Given the description of an element on the screen output the (x, y) to click on. 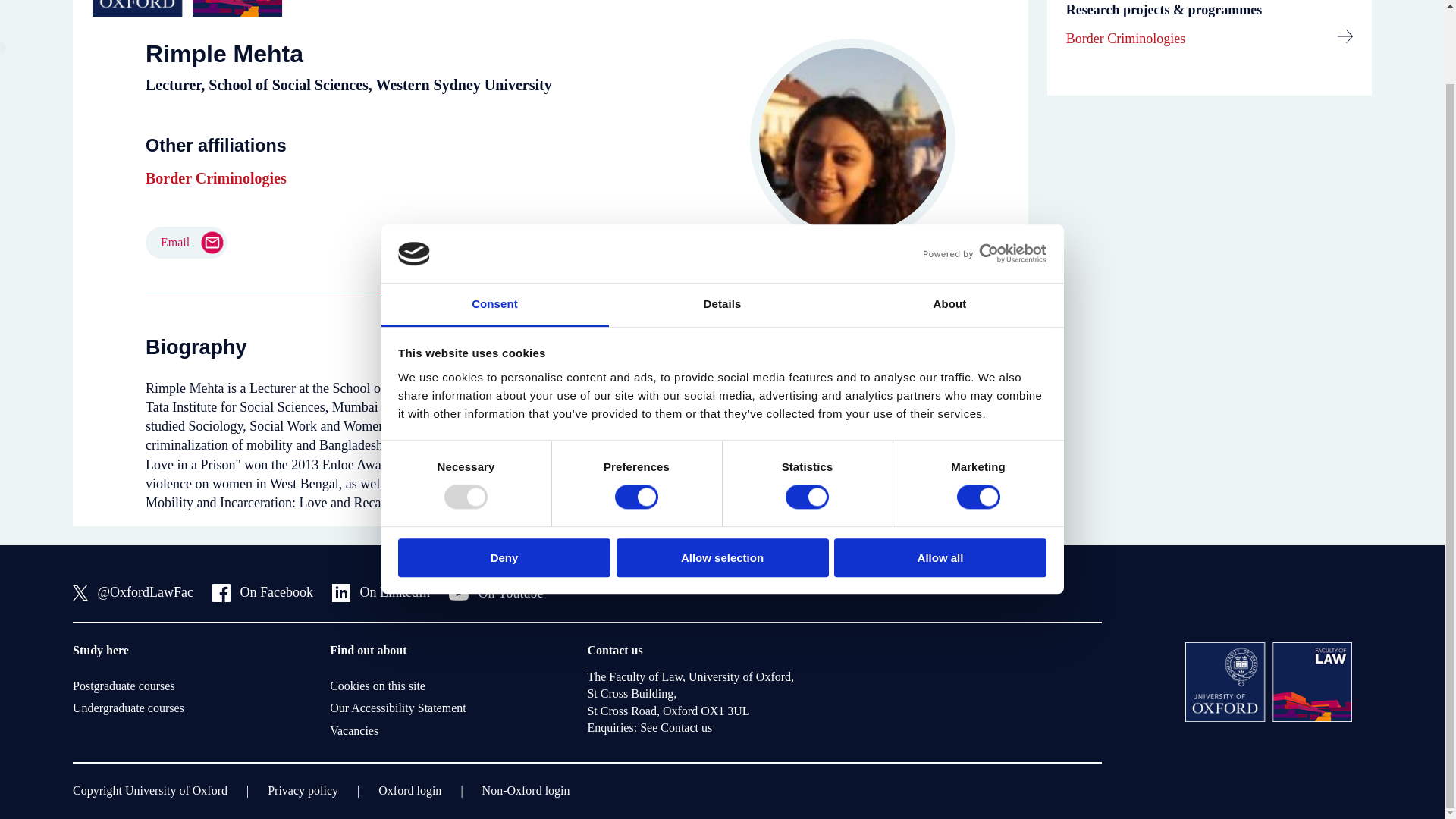
Consent (494, 222)
Allow selection (721, 474)
Deny (503, 474)
Details (721, 222)
About (948, 222)
Allow all (940, 474)
